Given the description of an element on the screen output the (x, y) to click on. 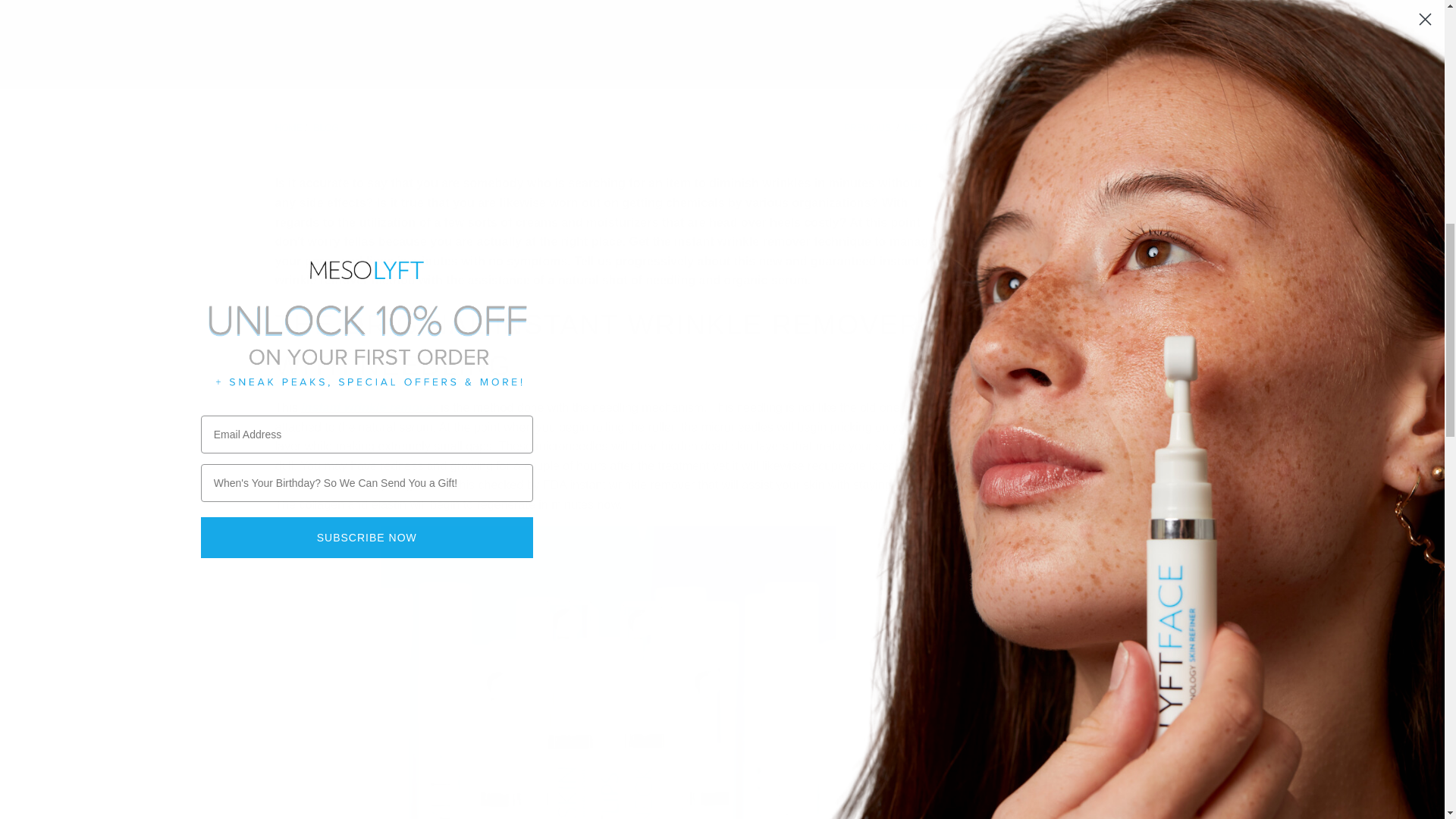
Sign Up (1072, 551)
NEXT (923, 127)
HOME (288, 127)
PREVIOUS (860, 127)
instant wrinkle remover (369, 407)
MesoLyft  (288, 127)
BLOG (326, 127)
Blog (326, 127)
